Given the description of an element on the screen output the (x, y) to click on. 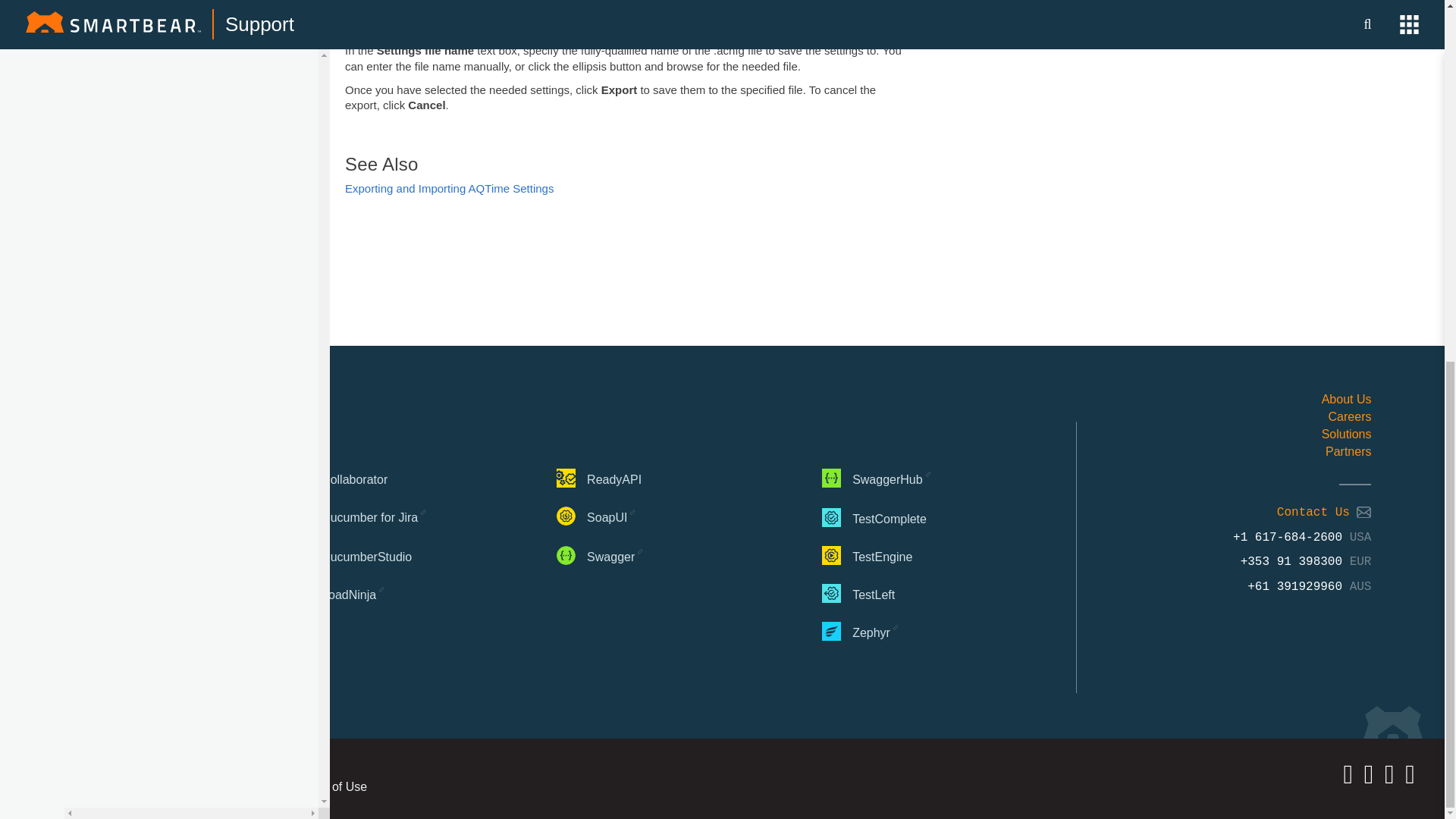
AQTime Pro (74, 517)
AlertSite (63, 479)
BitBar (61, 554)
Exporting and Importing AQTime Settings (449, 187)
